Given the description of an element on the screen output the (x, y) to click on. 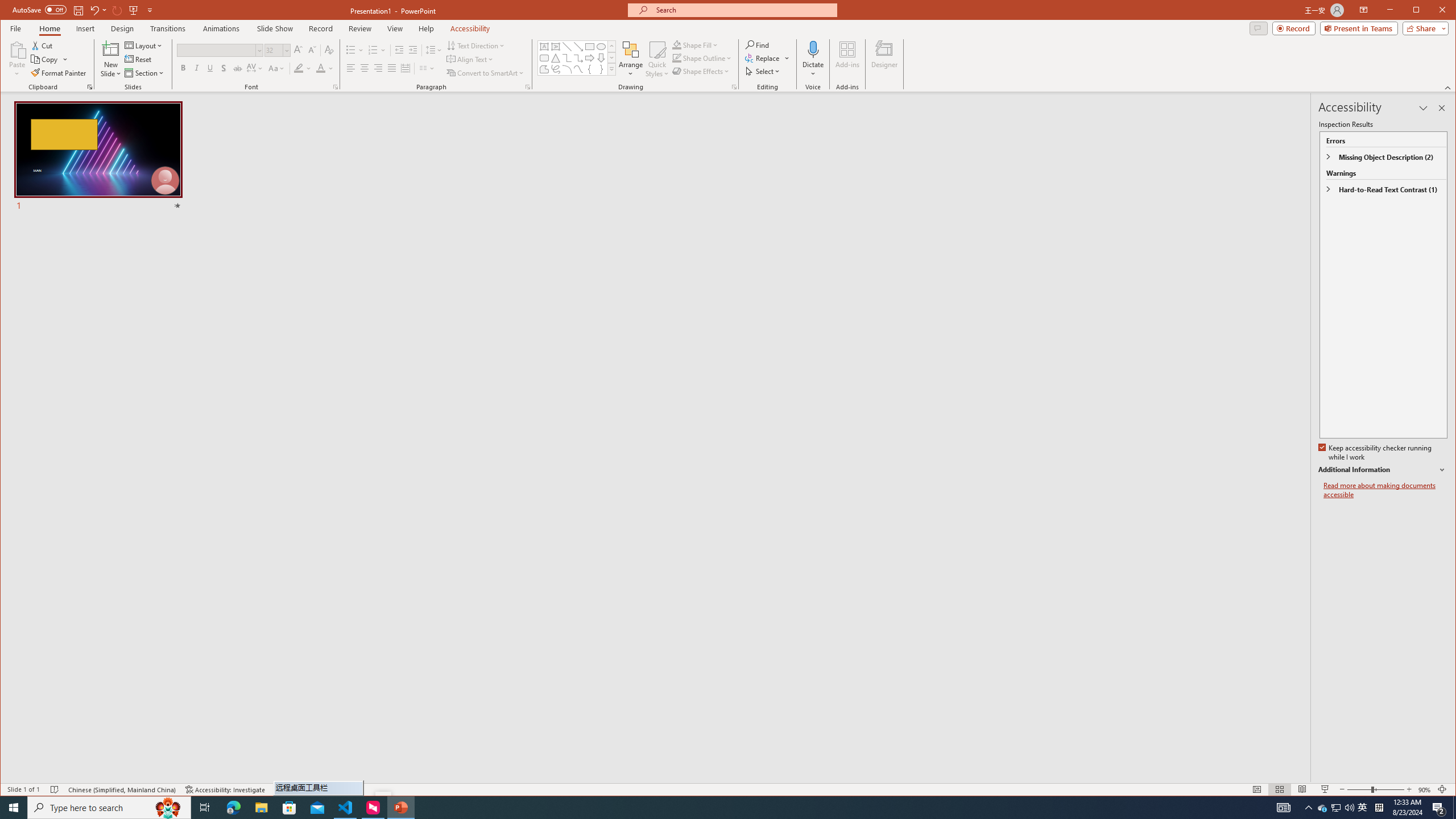
Shape Outline Blue, Accent 1 (676, 57)
Microsoft Store (289, 807)
Arrow: Right (589, 57)
Line Spacing (433, 49)
Action Center, 2 new notifications (1439, 807)
Font... (335, 86)
Decrease Indent (399, 49)
Line Arrow (577, 46)
File Explorer (261, 807)
Format Object... (733, 86)
Center (364, 68)
